Given the description of an element on the screen output the (x, y) to click on. 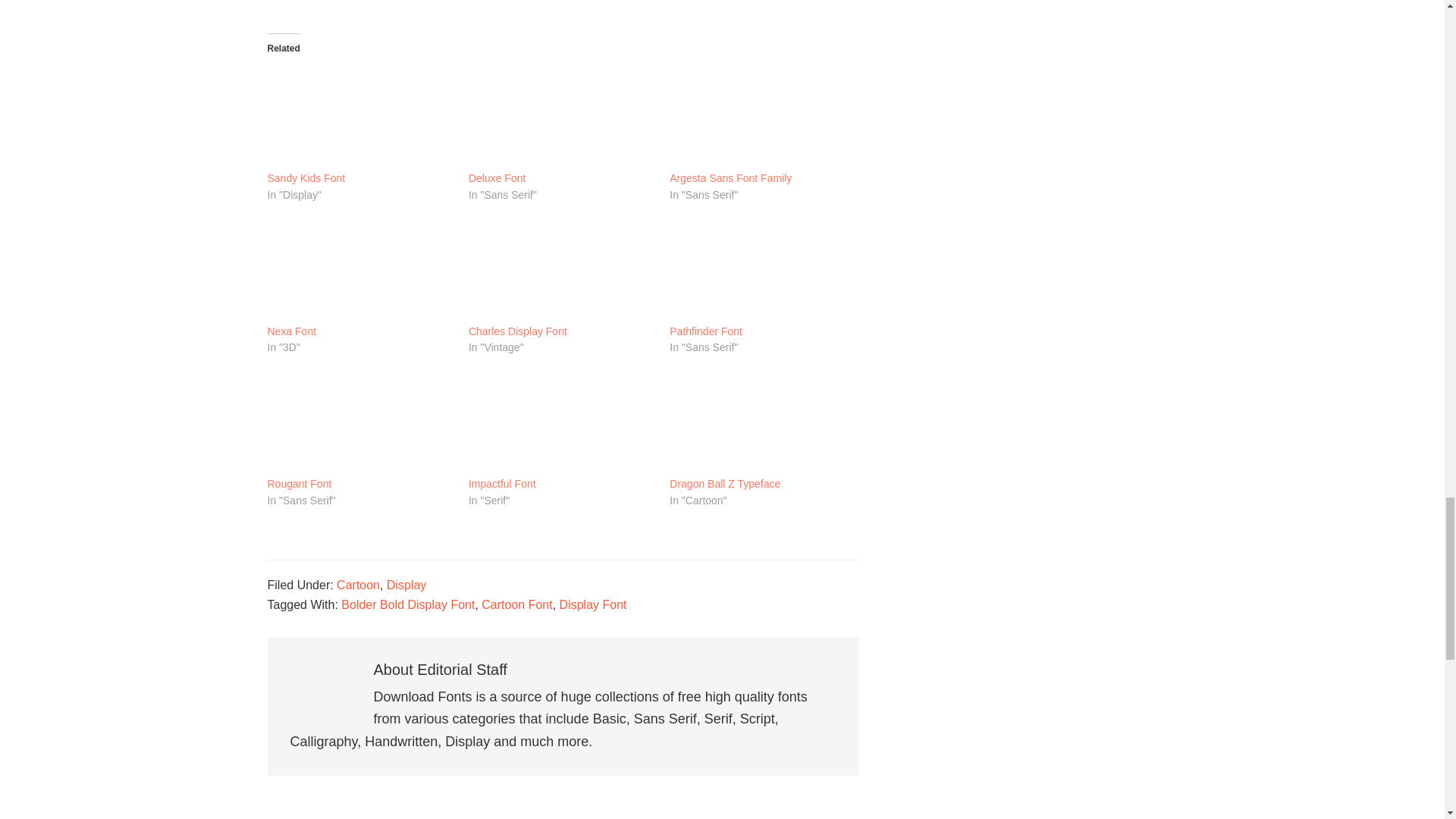
Argesta Sans Font Family (762, 116)
Impactful Font (560, 422)
Display Font (593, 604)
Bolder Bold Display Font (407, 604)
Deluxe Font (496, 178)
Dragon Ball Z Typeface (762, 422)
Sandy Kids Font (305, 178)
Pathfinder Font (762, 269)
Nexa Font (290, 332)
Sandy Kids Font (359, 116)
